Given the description of an element on the screen output the (x, y) to click on. 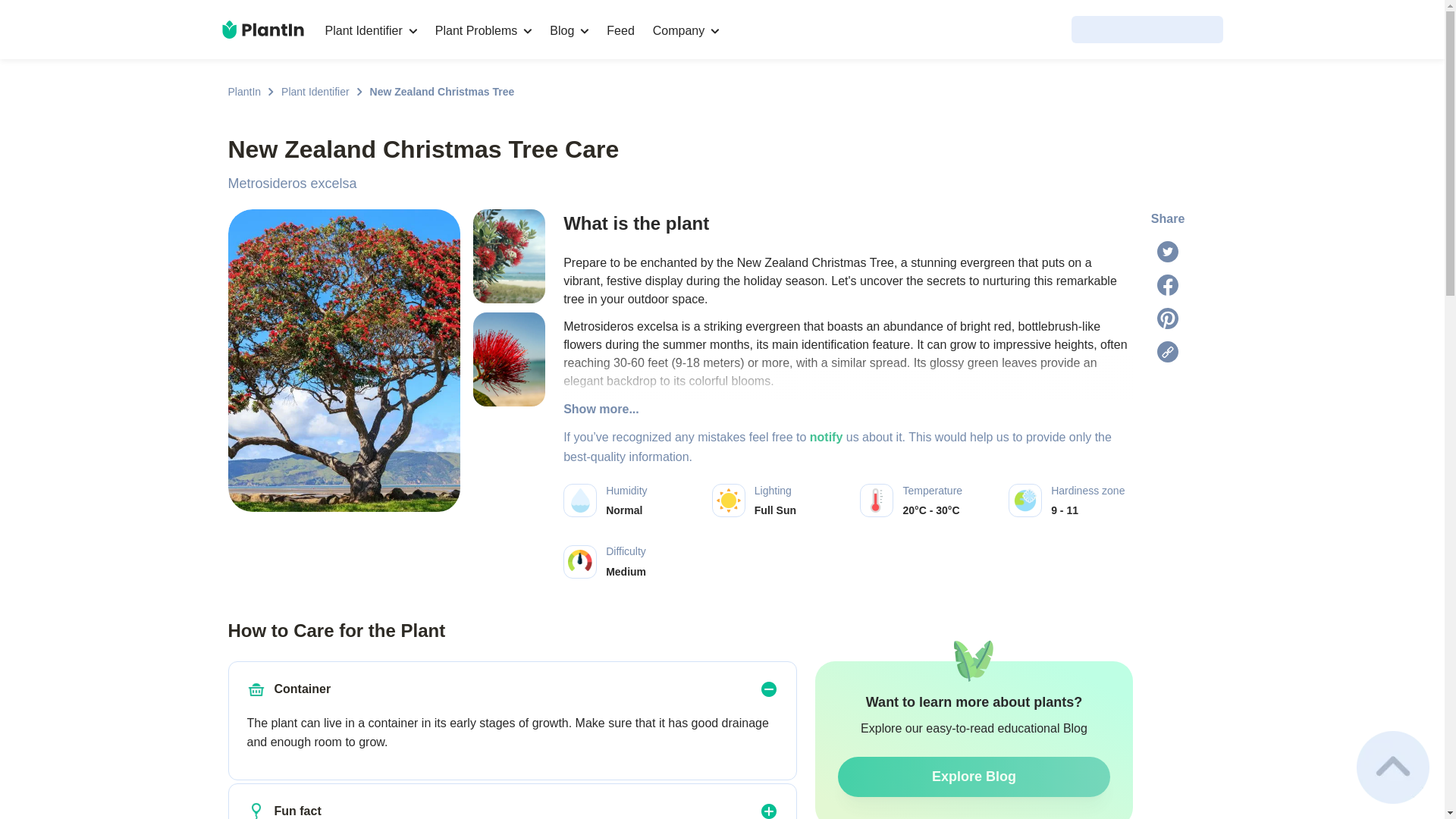
Show more... (847, 409)
Company (685, 31)
Humidity (579, 500)
Twitter (1167, 251)
Hardiness zone (1024, 500)
Explore Blog (973, 776)
Blog (568, 31)
PlantIn (243, 91)
Feed (619, 31)
notify (825, 436)
